Given the description of an element on the screen output the (x, y) to click on. 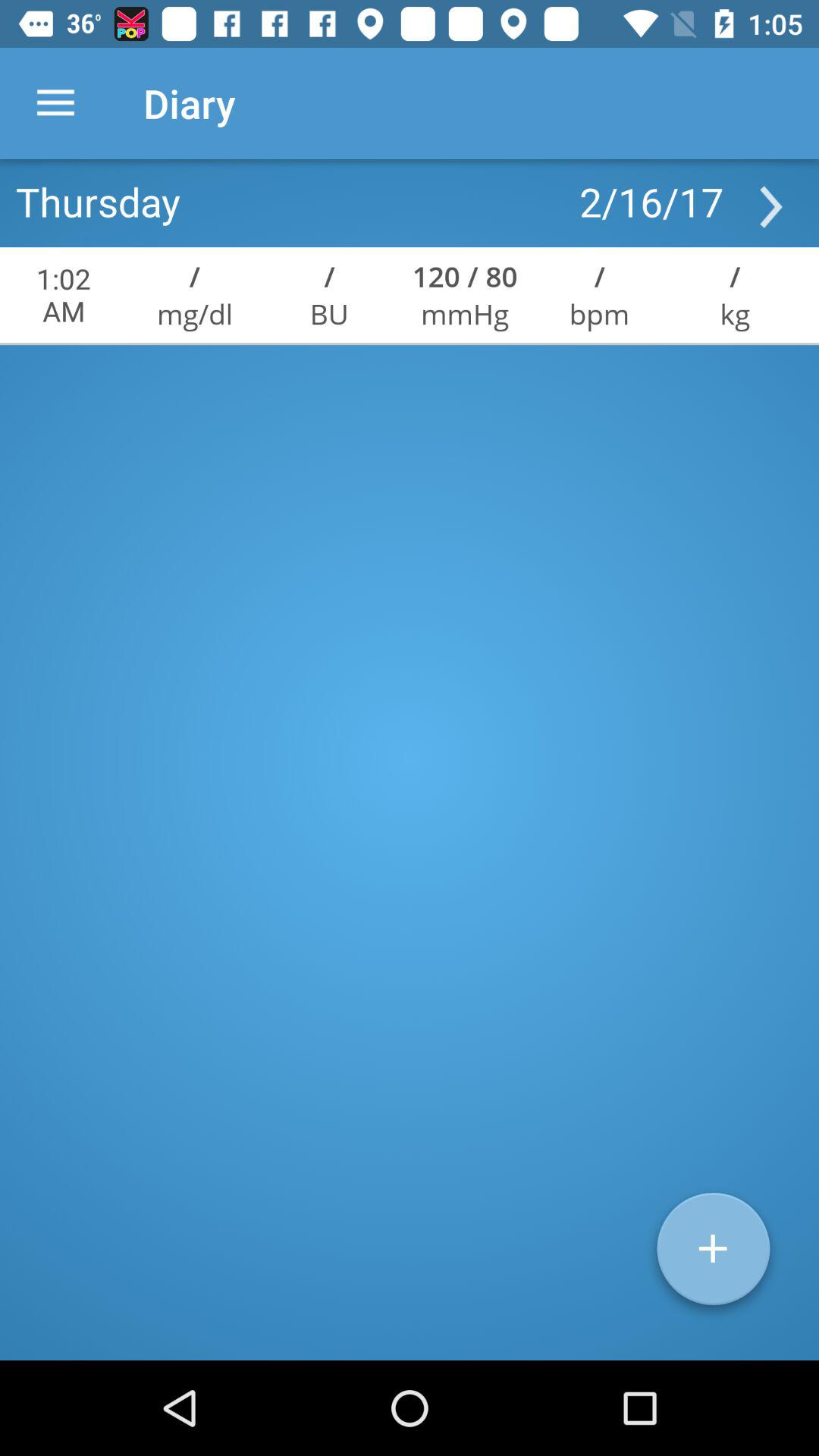
flip to the kg icon (735, 313)
